Given the description of an element on the screen output the (x, y) to click on. 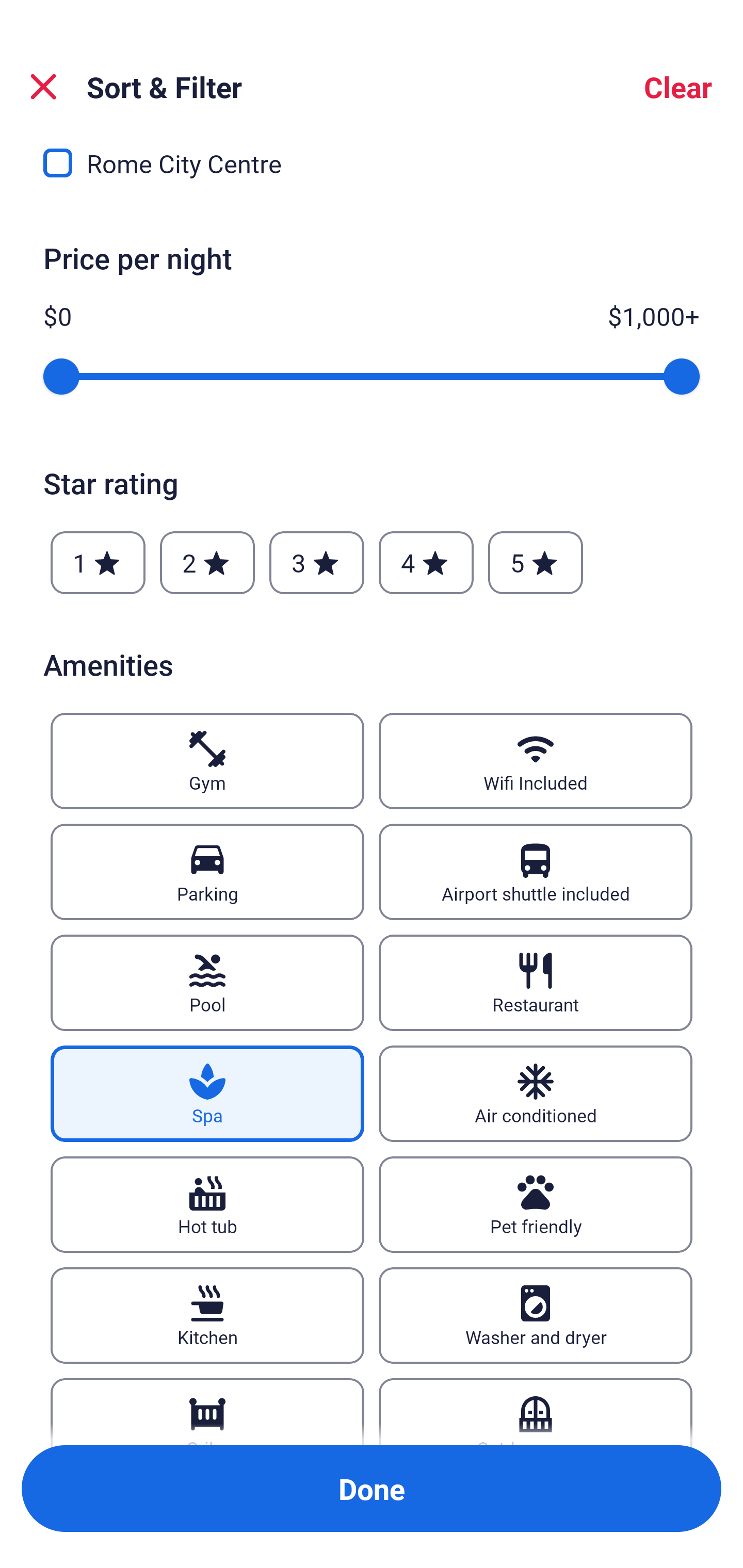
Close Sort and Filter (43, 86)
Clear (677, 86)
Rome City Centre, Rome City Centre (371, 168)
1 (97, 562)
2 (206, 562)
3 (316, 562)
4 (426, 562)
5 (535, 562)
Gym (207, 761)
Wifi Included (535, 761)
Parking (207, 871)
Airport shuttle included (535, 871)
Pool (207, 982)
Restaurant (535, 982)
Spa (207, 1093)
Air conditioned (535, 1093)
Hot tub (207, 1204)
Pet friendly (535, 1204)
Kitchen (207, 1315)
Washer and dryer (535, 1315)
Cribs (207, 1411)
Outdoor space (535, 1411)
Apply and close Sort and Filter Done (371, 1488)
